Given the description of an element on the screen output the (x, y) to click on. 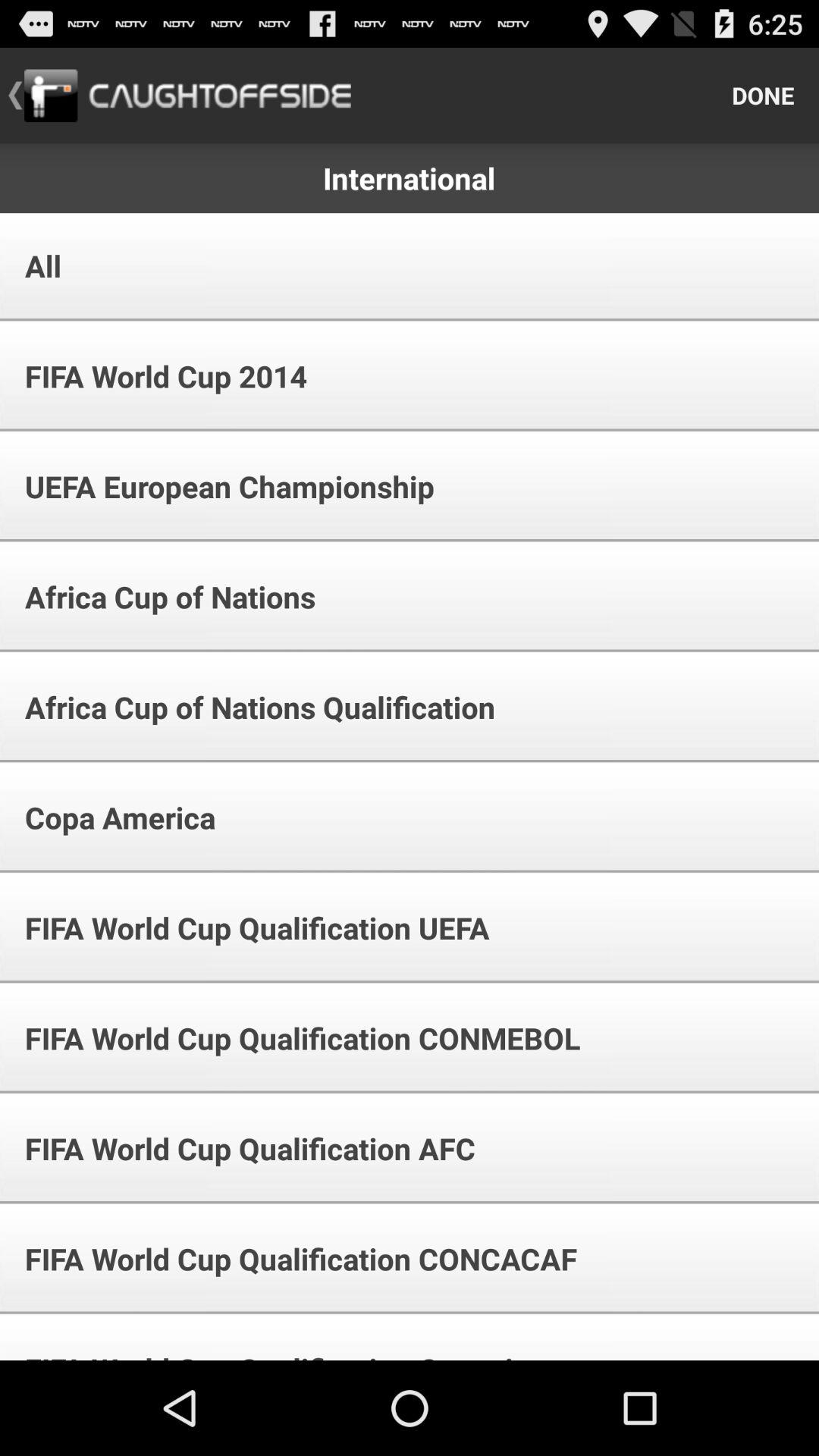
scroll until all (33, 265)
